Given the description of an element on the screen output the (x, y) to click on. 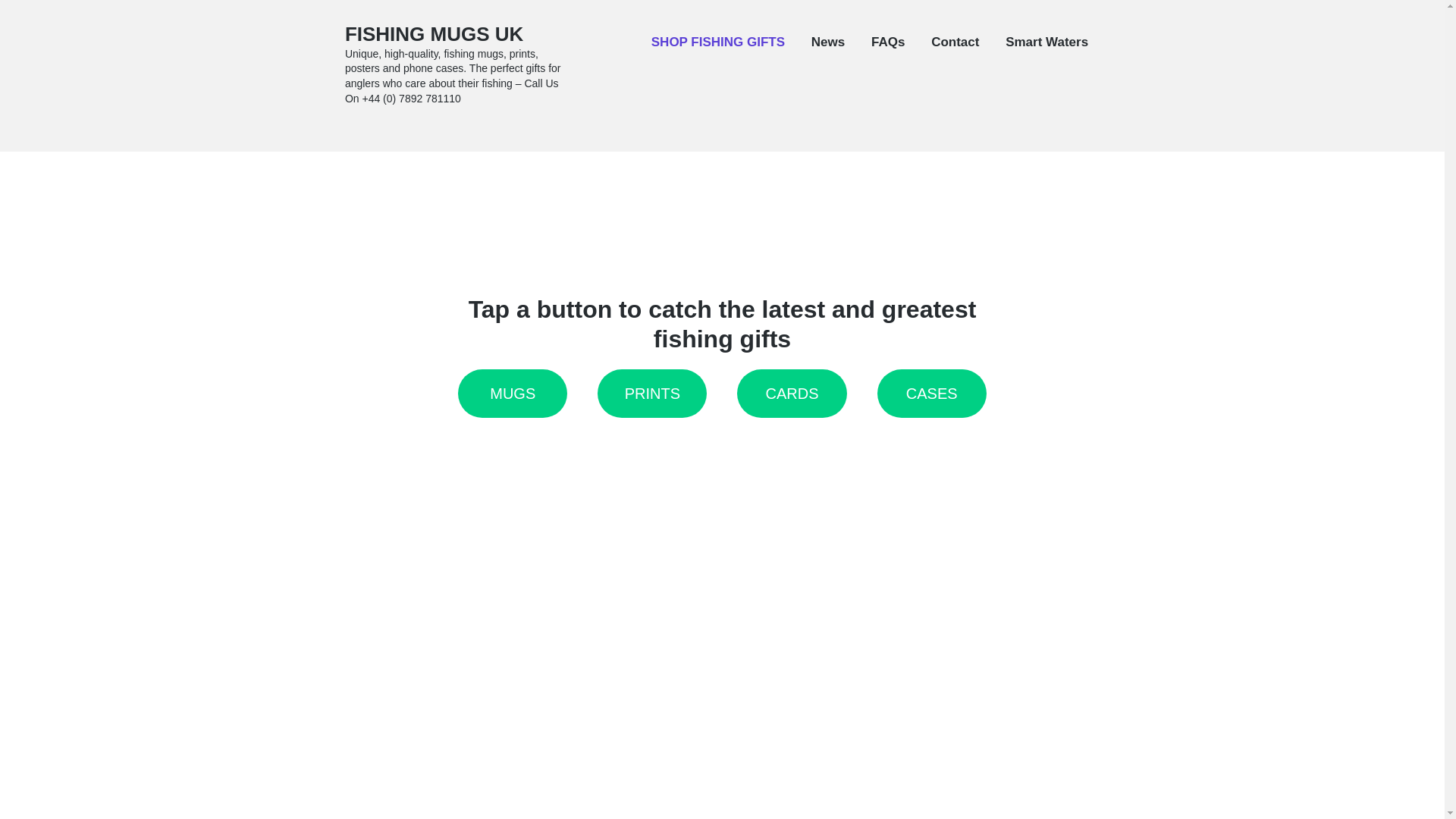
Contact (954, 42)
FAQs (887, 42)
FISHING MUGS UK (433, 33)
CARDS (790, 393)
MUGS (512, 393)
SHOP FISHING GIFTS (717, 42)
News (827, 42)
Smart Waters (1046, 42)
PRINTS (651, 393)
CASES (932, 393)
